Given the description of an element on the screen output the (x, y) to click on. 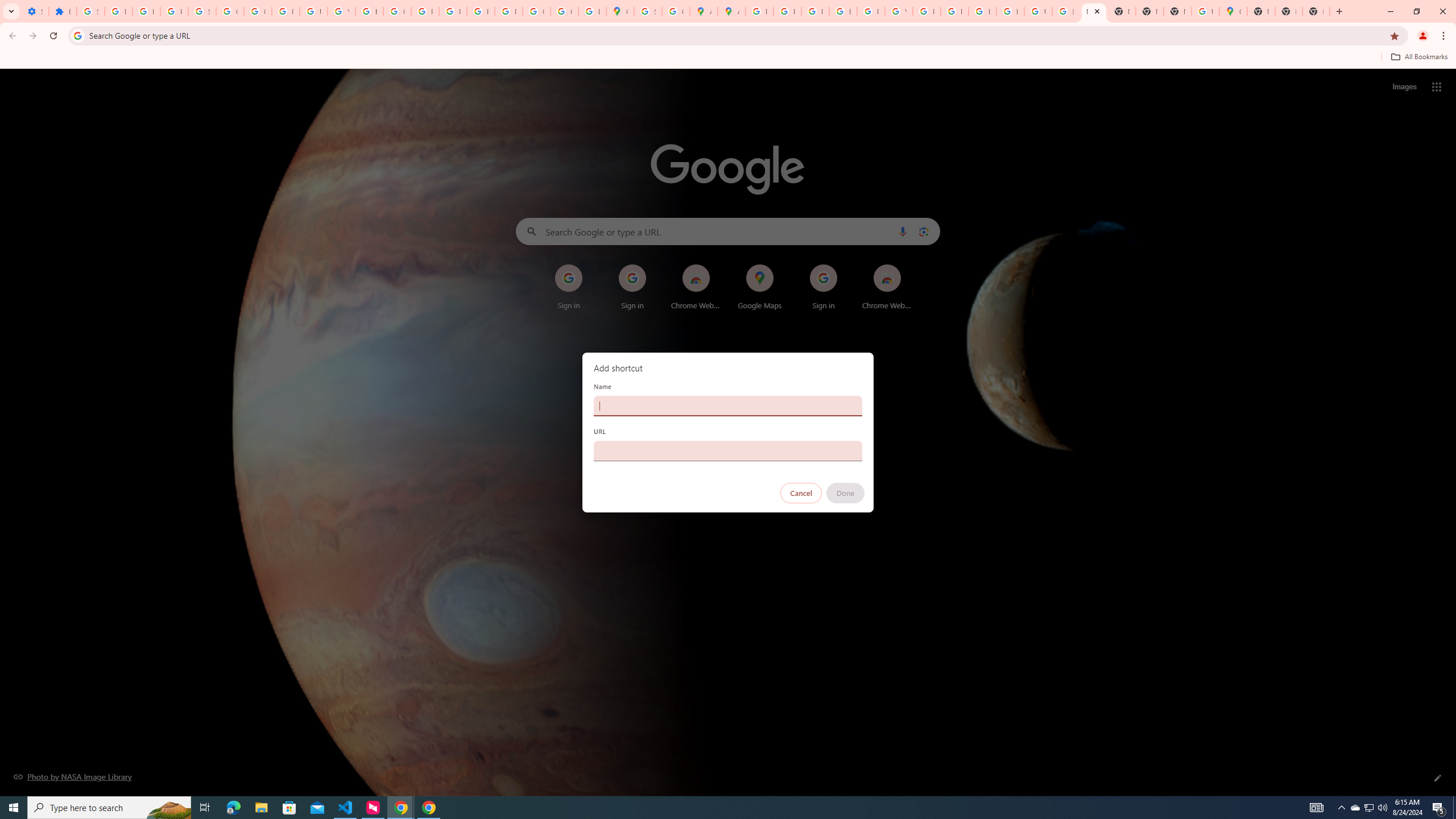
Policy Accountability and Transparency - Transparency Center (759, 11)
Use Google Maps in Space - Google Maps Help (1205, 11)
Sign in - Google Accounts (90, 11)
Extensions (62, 11)
Delete photos & videos - Computer - Google Photos Help (118, 11)
Google Account Help (229, 11)
Sign in - Google Accounts (647, 11)
YouTube (898, 11)
